Given the description of an element on the screen output the (x, y) to click on. 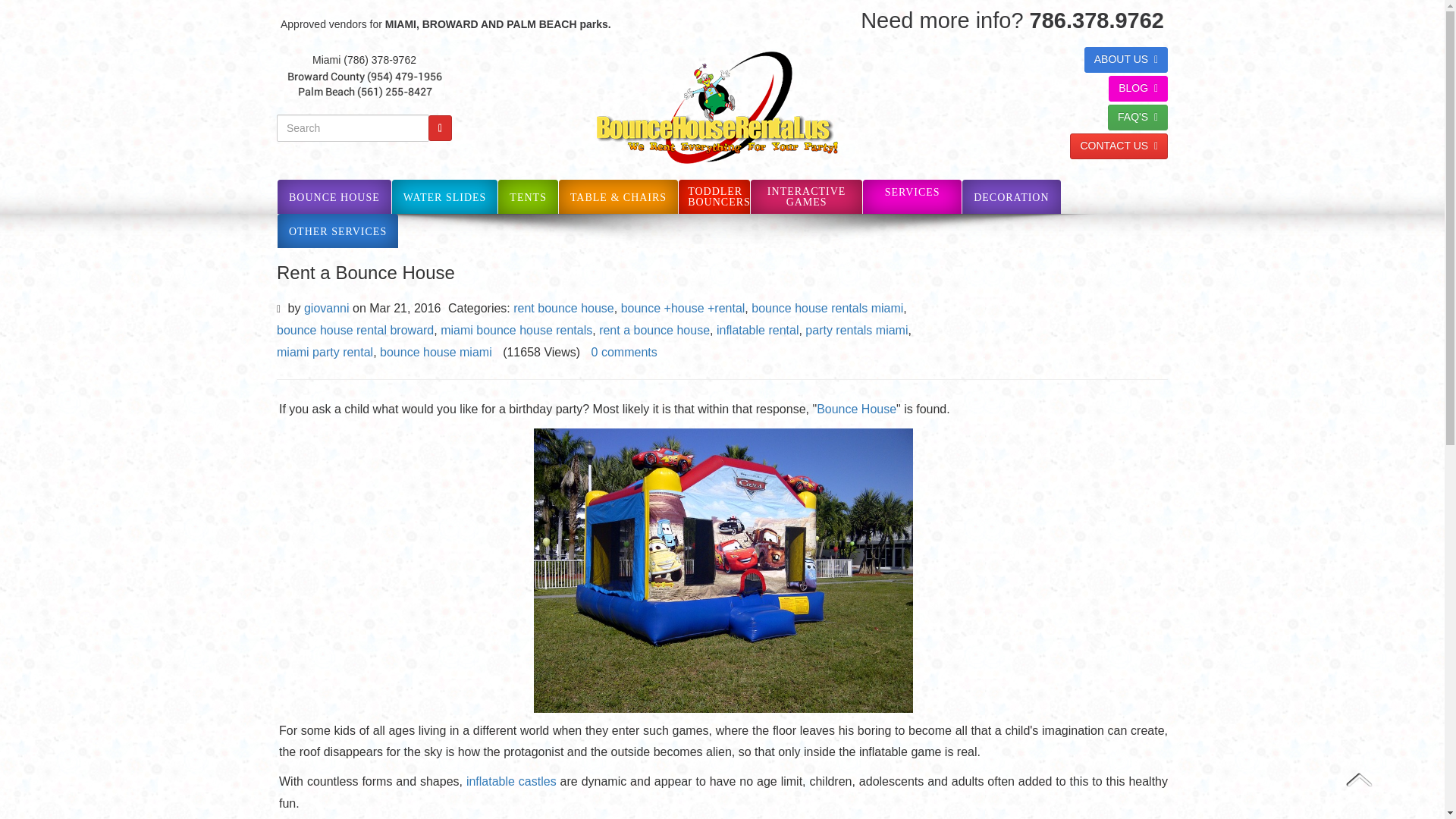
TENTS (528, 197)
CONTACT US   (1118, 145)
giovanni (326, 308)
OTHER SERVICES (337, 231)
bounce house rental broward (354, 329)
FAQ'S   (1137, 117)
WATER SLIDES (444, 197)
miami party rental (324, 351)
rent bounce house (563, 308)
BLOG   (1137, 88)
BOUNCE HOUSE (334, 197)
inflatable castles (510, 780)
Bounce House (856, 408)
party rentals miami (856, 329)
inflatable rental (757, 329)
